Given the description of an element on the screen output the (x, y) to click on. 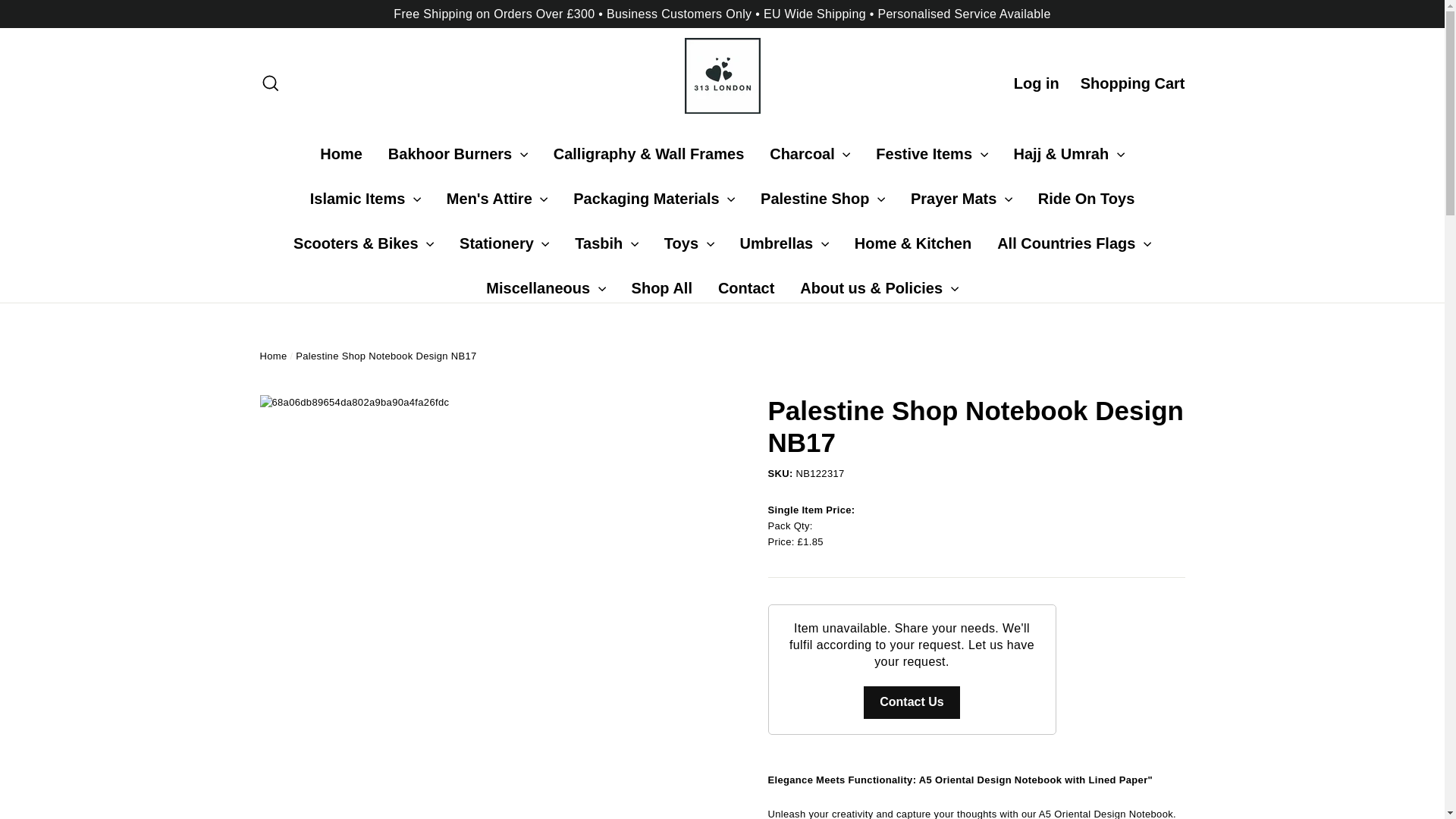
Back to the frontpage (272, 355)
